Given the description of an element on the screen output the (x, y) to click on. 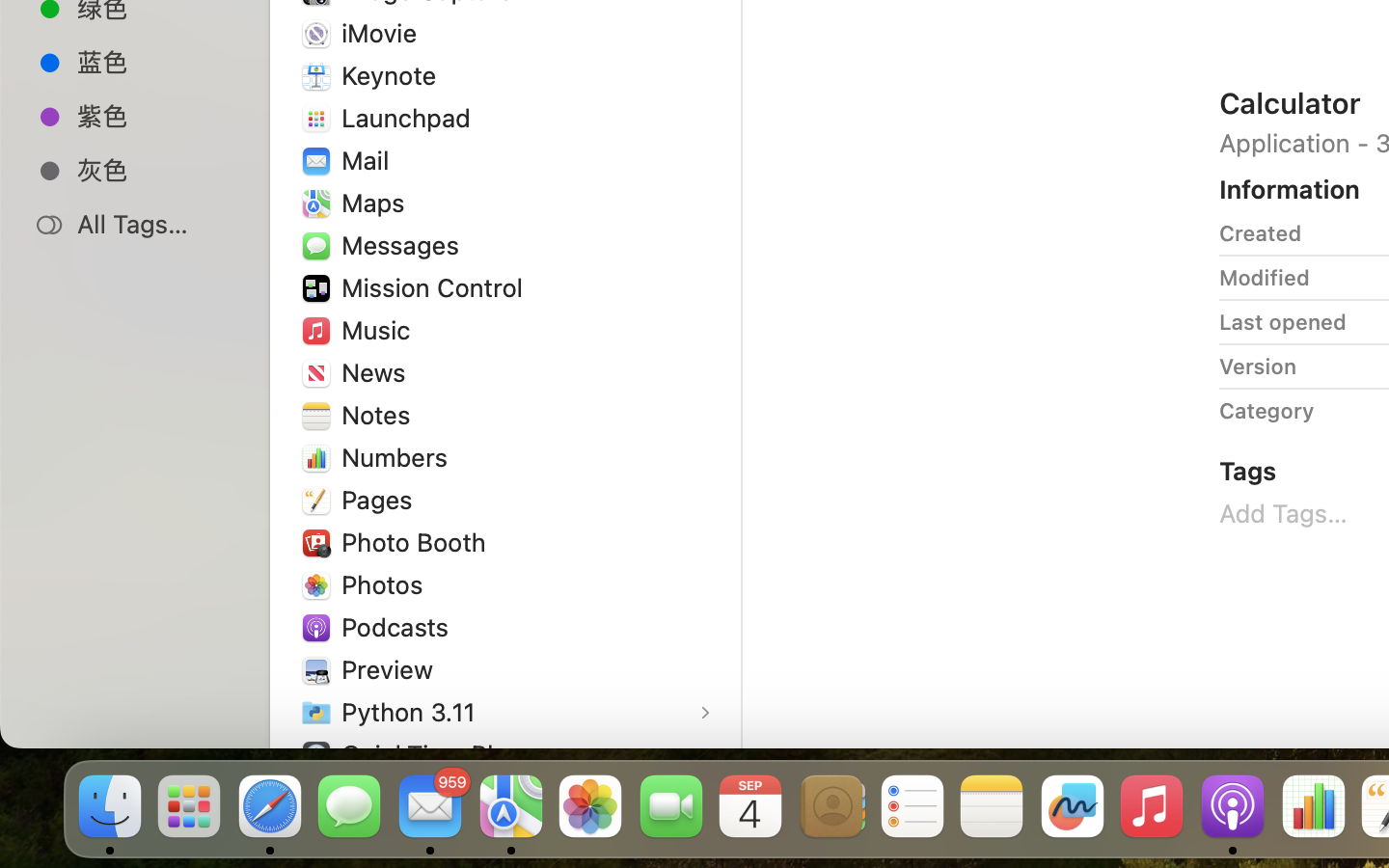
Mail Element type: AXTextField (369, 159)
iMovie Element type: AXTextField (383, 32)
Mission Control Element type: AXTextField (436, 286)
Information Element type: AXStaticText (1289, 188)
